Given the description of an element on the screen output the (x, y) to click on. 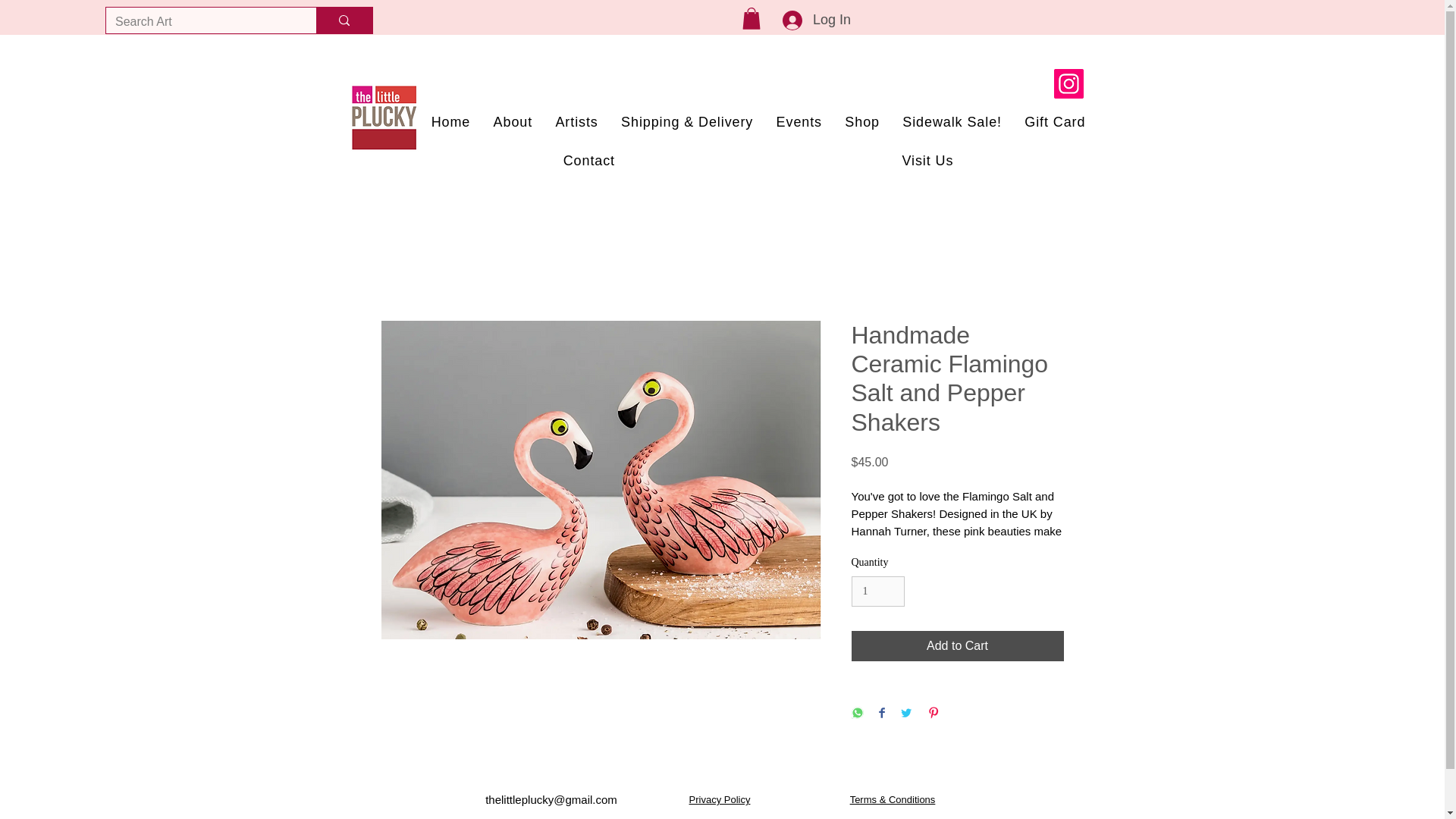
Log In (802, 20)
Artists (577, 122)
1 (877, 591)
About (512, 122)
Home (451, 122)
